Given the description of an element on the screen output the (x, y) to click on. 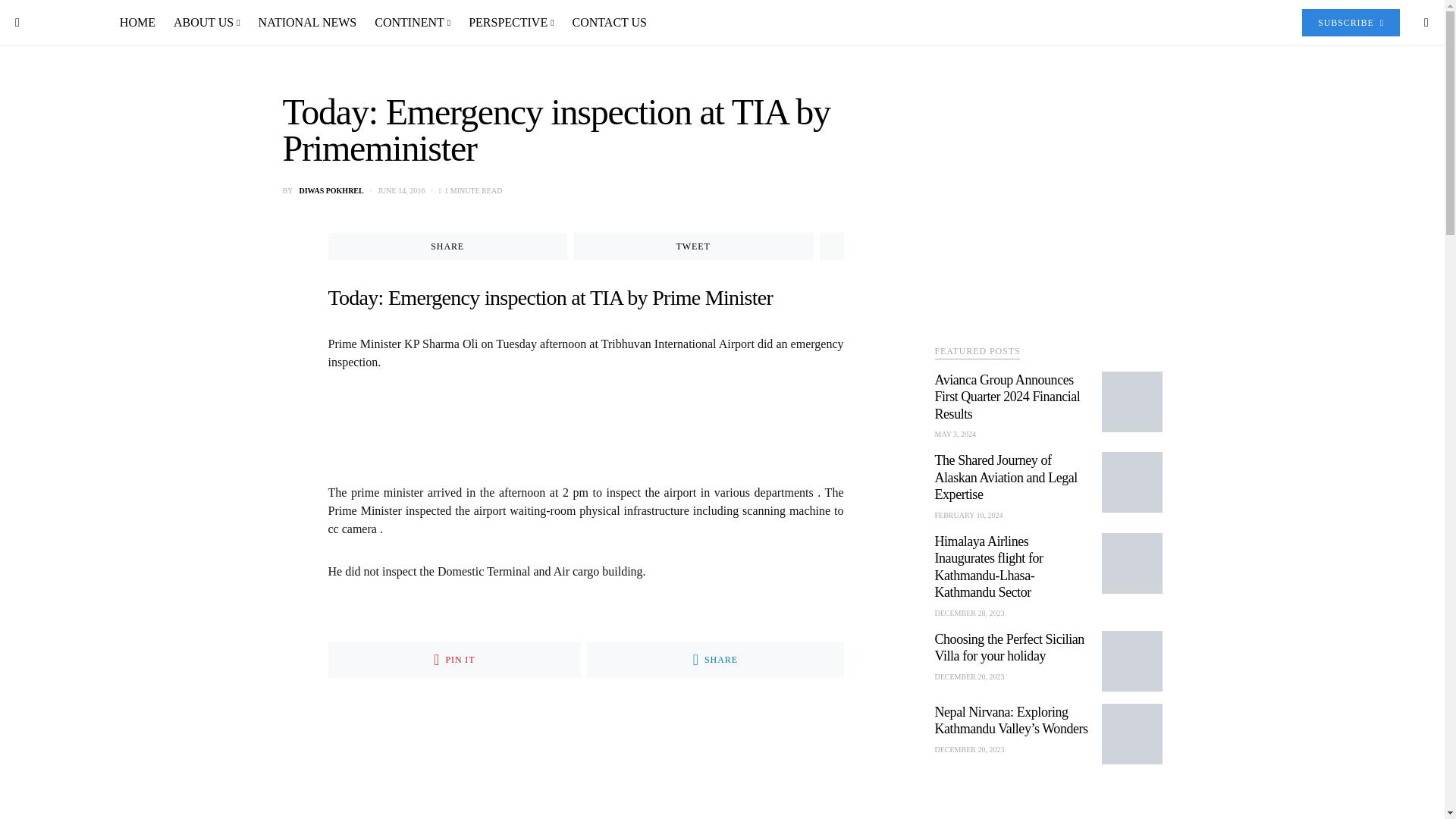
HOME (141, 22)
SUBSCRIBE (1350, 22)
PERSPECTIVE (511, 22)
View all posts by Diwas Pokhrel (330, 190)
CONTINENT (412, 22)
NATIONAL NEWS (307, 22)
ABOUT US (206, 22)
DIWAS POKHREL (330, 190)
CONTACT US (604, 22)
